Given the description of an element on the screen output the (x, y) to click on. 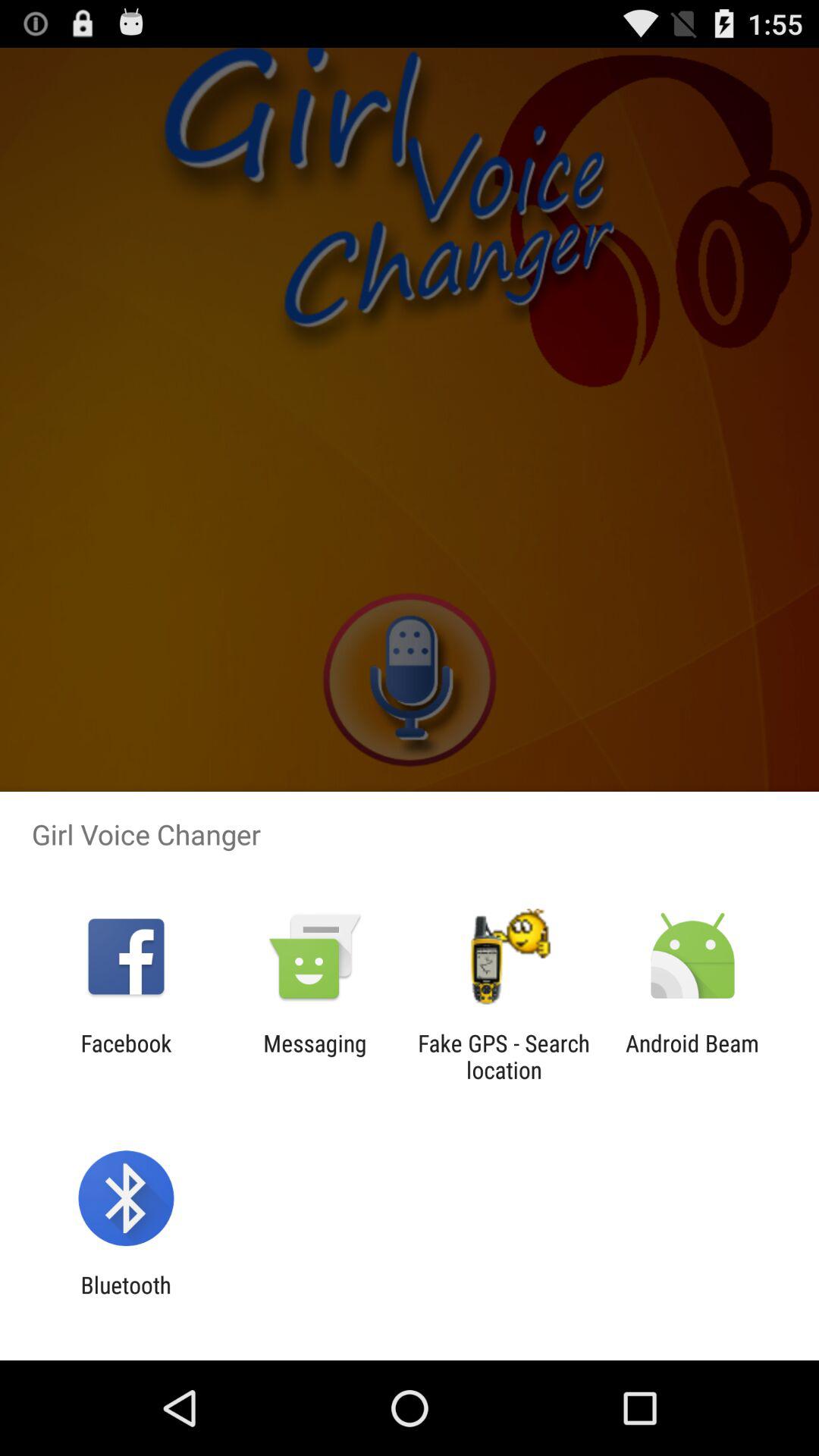
flip until fake gps search (503, 1056)
